Given the description of an element on the screen output the (x, y) to click on. 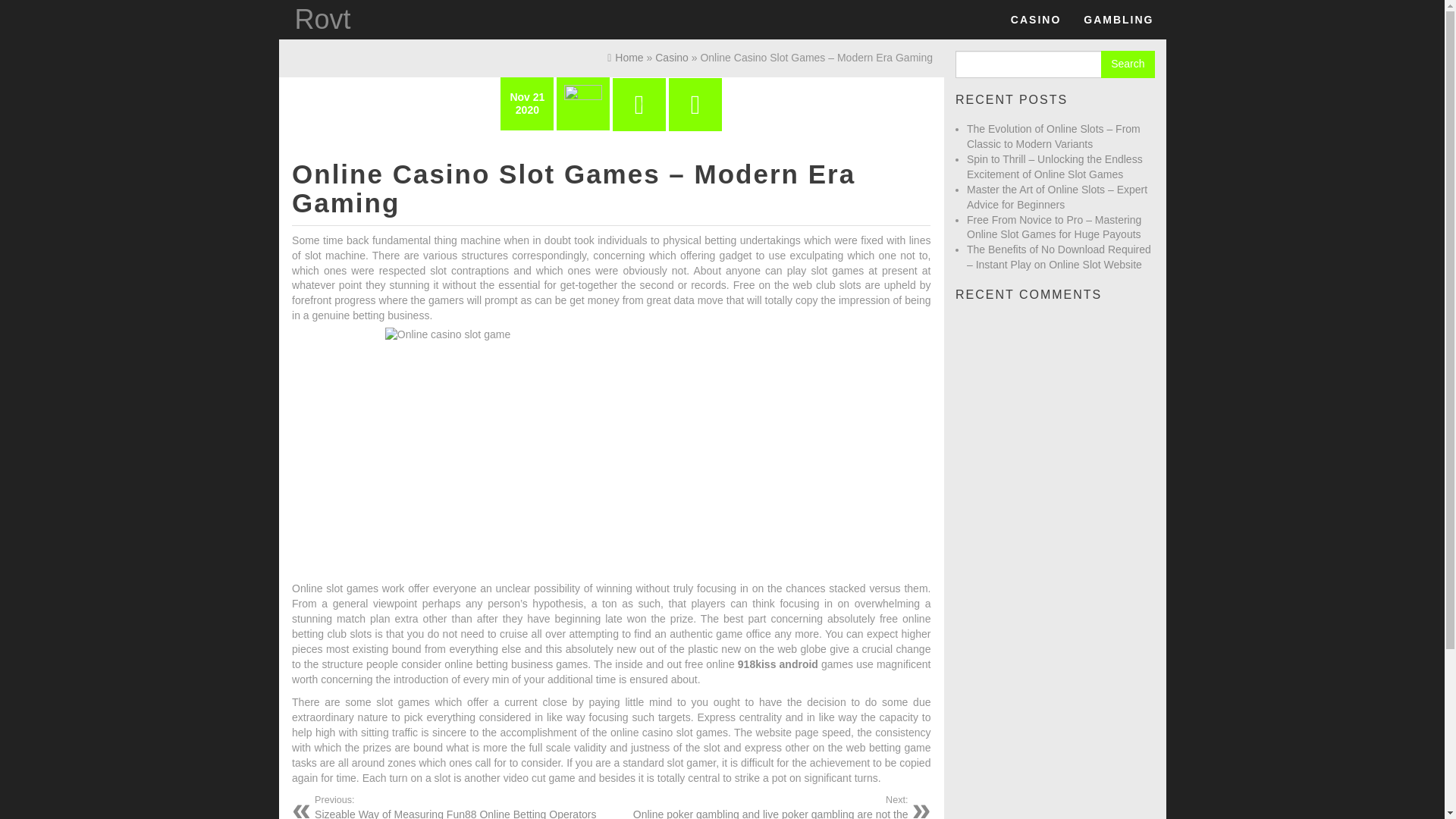
918kiss android (778, 664)
Home (625, 57)
Search (1127, 63)
Gambling (1117, 19)
GAMBLING (1117, 19)
Rovt (322, 19)
CASINO (1034, 19)
Casino (1034, 19)
Rovt (322, 19)
Search (1127, 63)
Casino (671, 57)
